Given the description of an element on the screen output the (x, y) to click on. 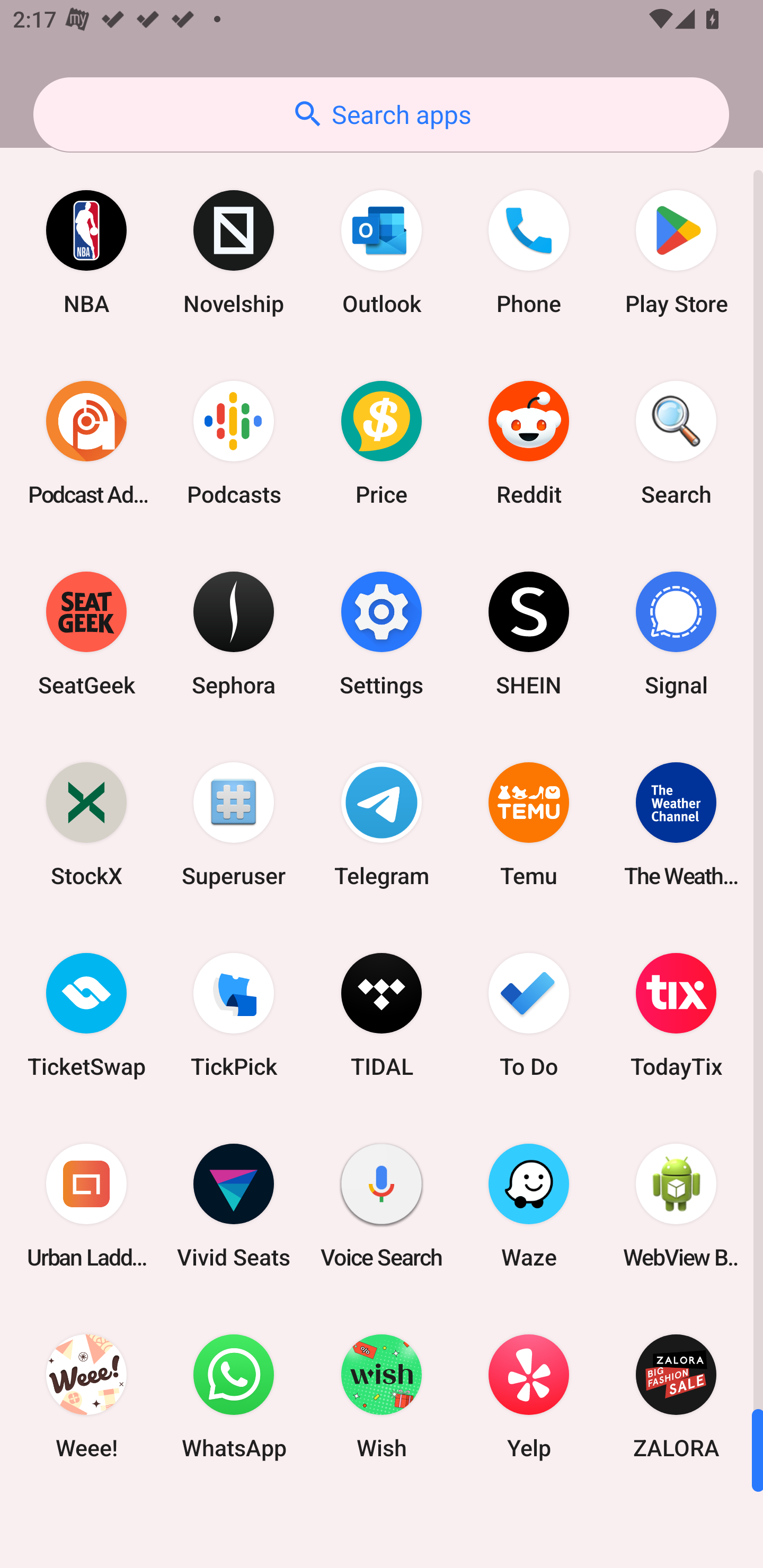
Signal (676, 633)
